Given the description of an element on the screen output the (x, y) to click on. 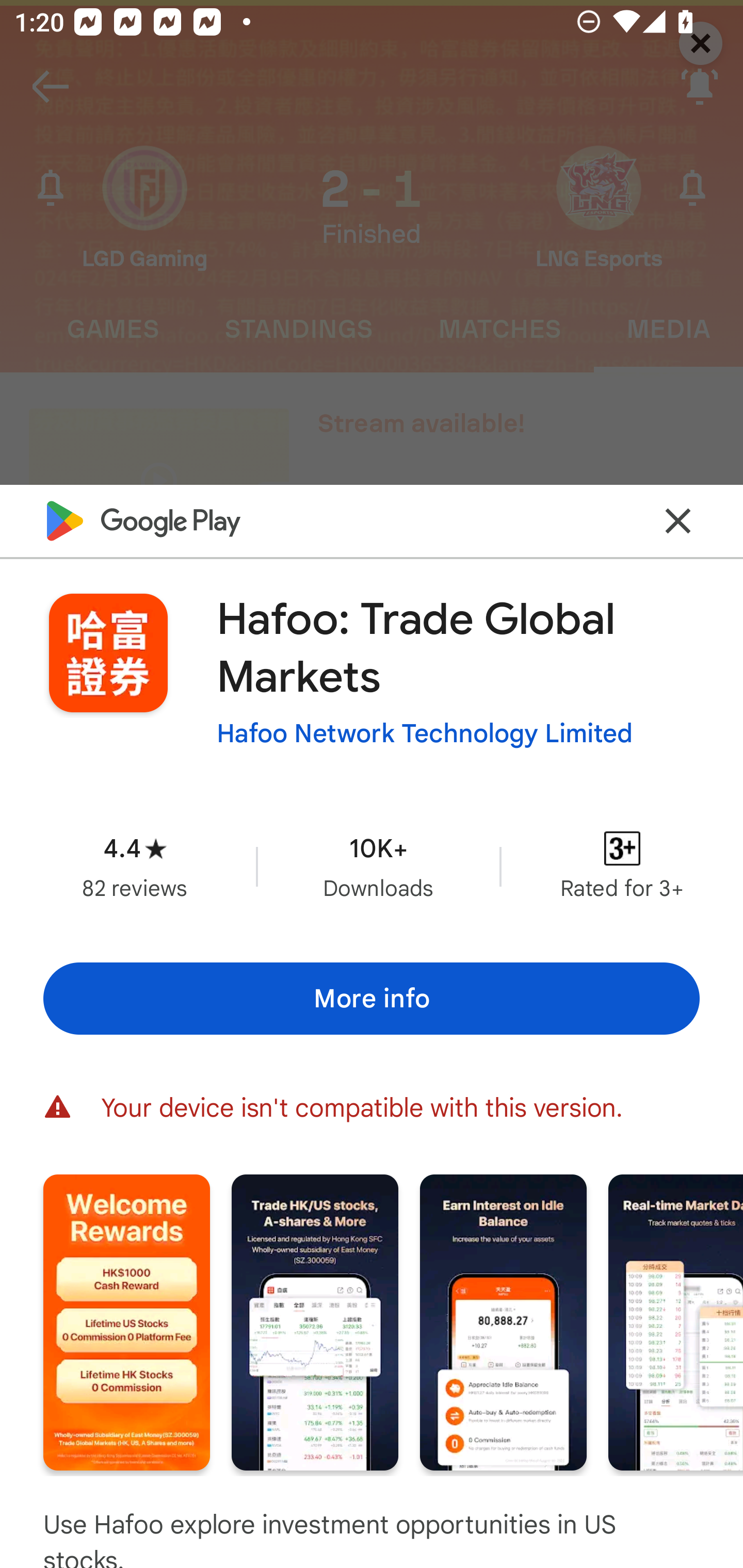
Close (677, 520)
Hafoo Network Technology Limited (424, 732)
More info (371, 998)
Screenshot "1" of "8" (126, 1322)
Screenshot "2" of "8" (314, 1322)
Screenshot "3" of "8" (502, 1322)
Screenshot "4" of "8" (675, 1322)
